Given the description of an element on the screen output the (x, y) to click on. 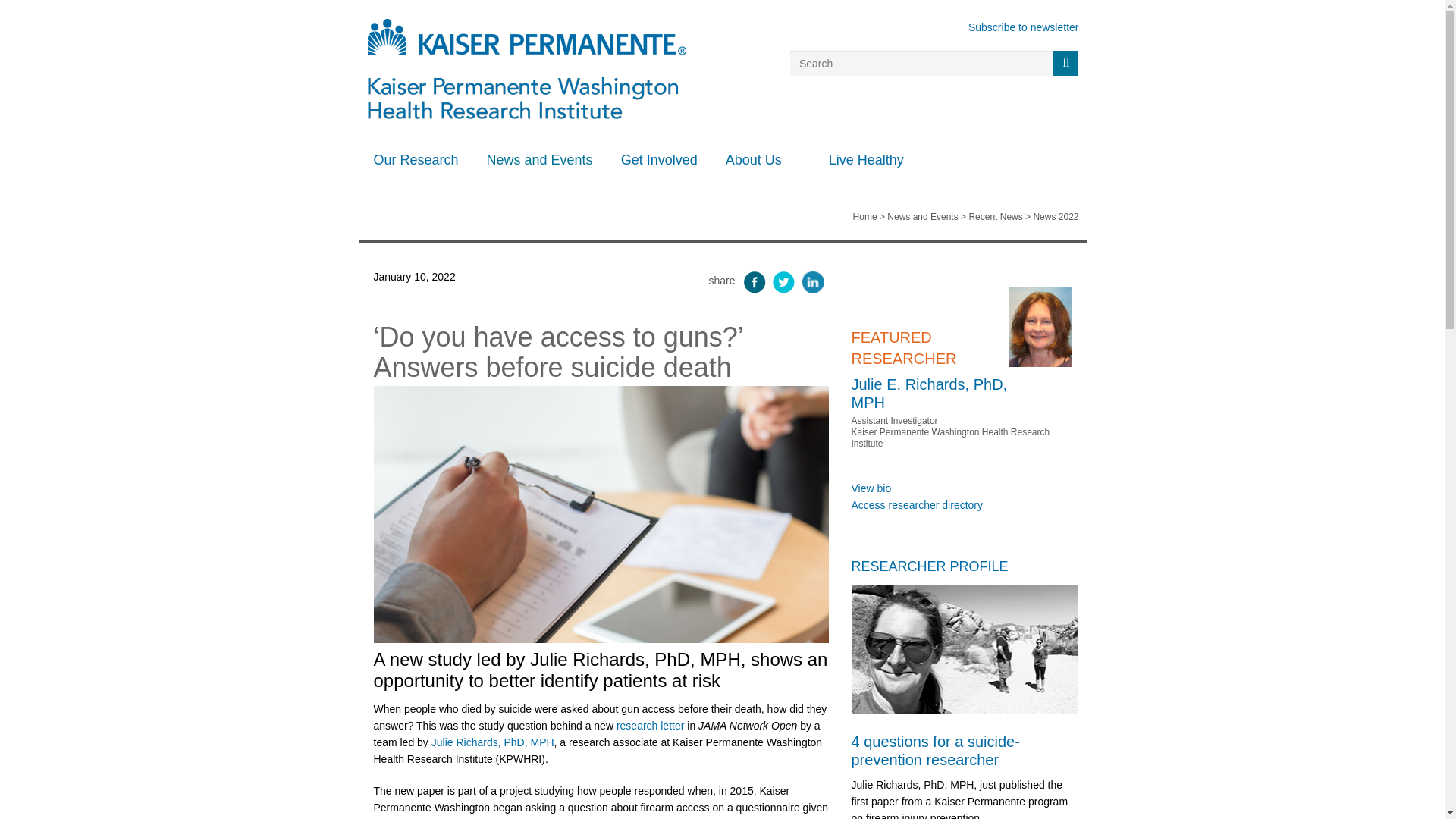
Get Involved (665, 159)
Our Research (420, 159)
Subscribe to newsletter (1023, 27)
News and Events (545, 159)
